Given the description of an element on the screen output the (x, y) to click on. 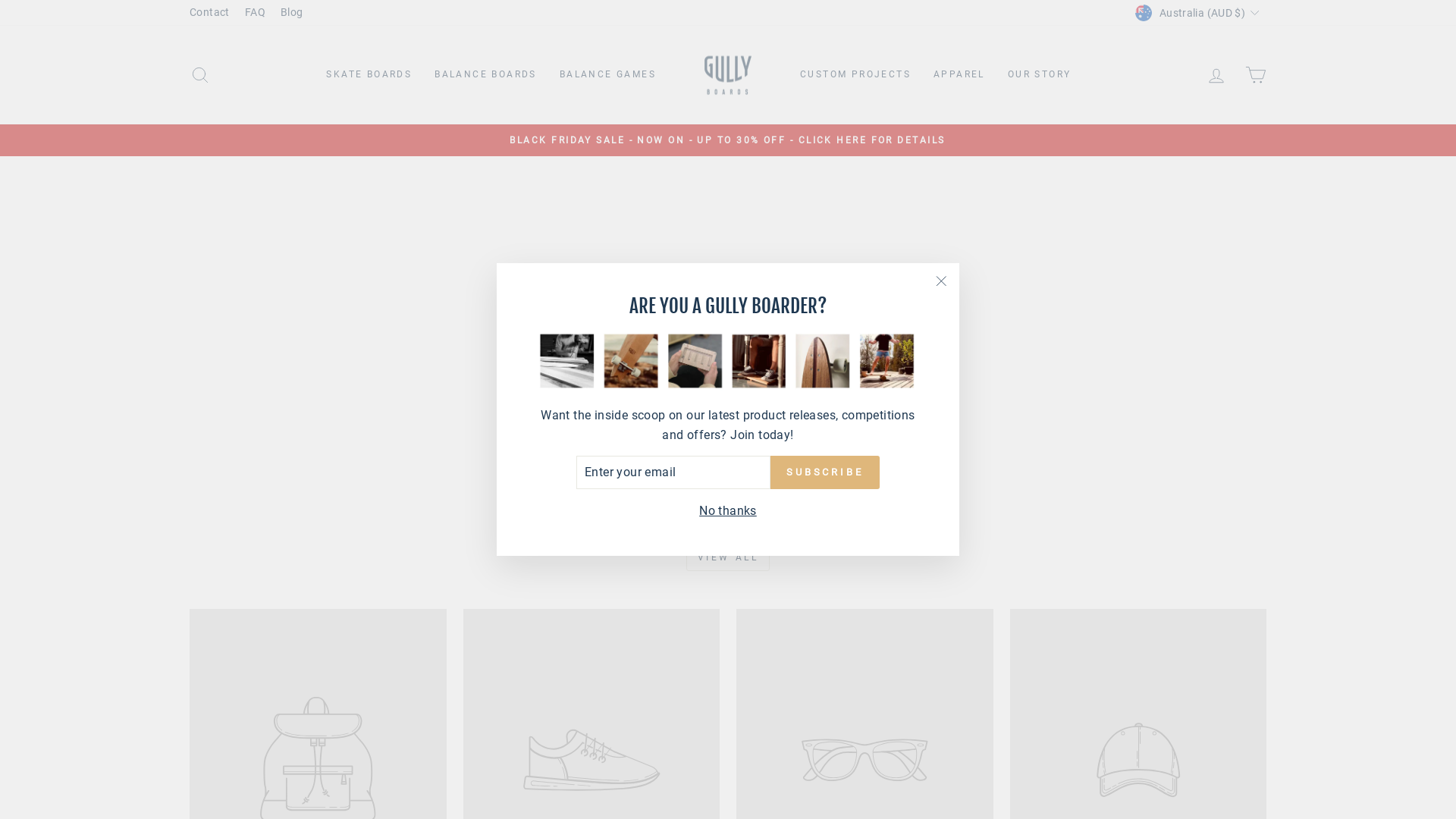
Continue shopping Element type: text (727, 346)
OUR STORY Element type: text (1039, 74)
SKATE BOARDS Element type: text (368, 74)
SUBSCRIBE Element type: text (824, 472)
Blog Element type: text (291, 12)
"Close (esc)" Element type: text (940, 281)
Australia (AUD $) Element type: text (1198, 12)
Contact Element type: text (209, 12)
No thanks Element type: text (727, 510)
BALANCE GAMES Element type: text (607, 74)
BALANCE BOARDS Element type: text (485, 74)
Skip to content Element type: text (0, 0)
APPAREL Element type: text (959, 74)
LOG IN Element type: text (1216, 74)
CUSTOM PROJECTS Element type: text (855, 74)
CART Element type: text (1255, 74)
FAQ Element type: text (255, 12)
SEARCH Element type: text (199, 74)
VIEW ALL Element type: text (728, 557)
